Given the description of an element on the screen output the (x, y) to click on. 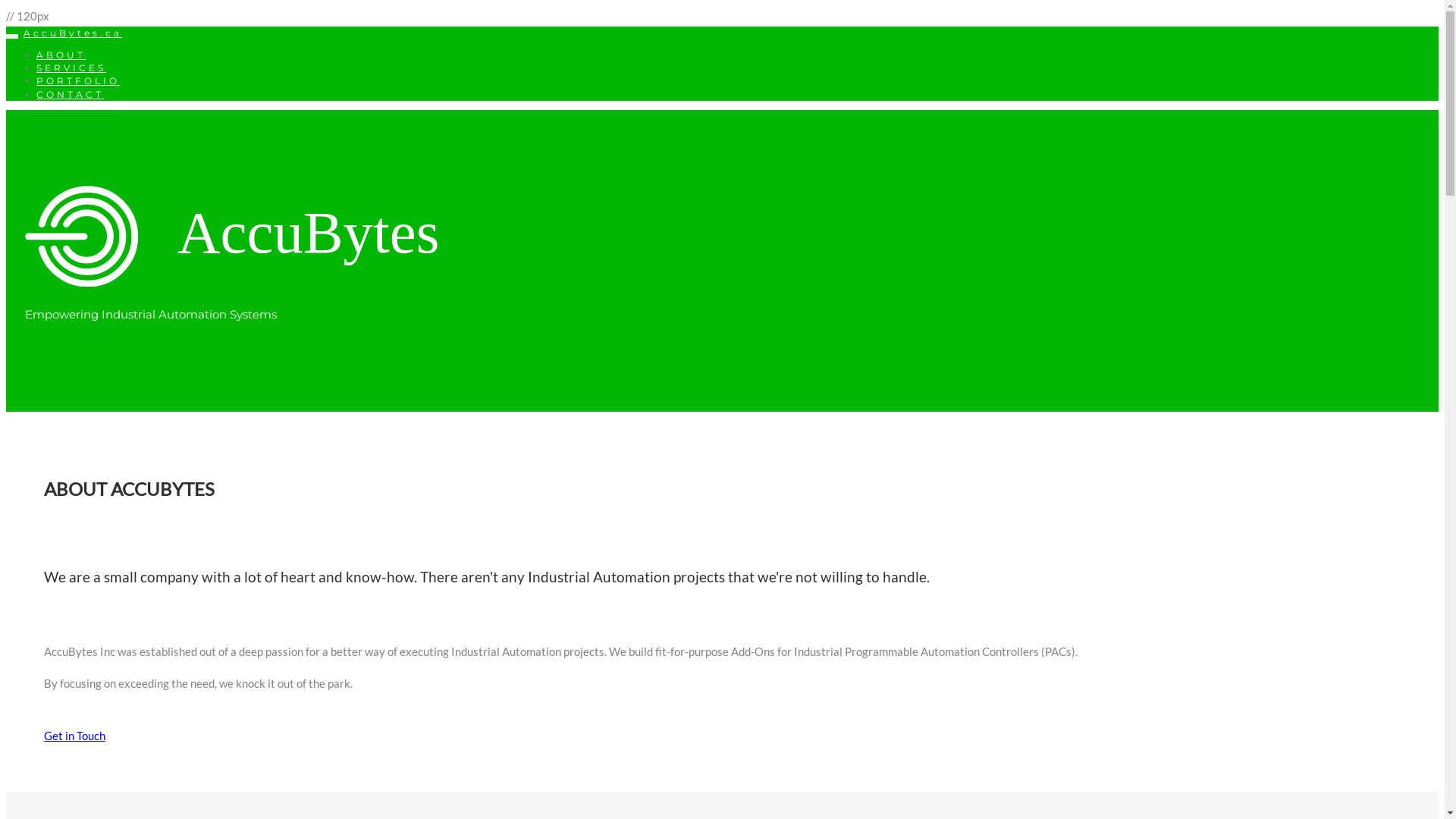
PORTFOLIO Element type: text (77, 80)
AccuBytes.ca Element type: text (72, 32)
CONTACT Element type: text (69, 94)
SERVICES Element type: text (71, 67)
Get in Touch Element type: text (74, 735)
ABOUT Element type: text (60, 54)
